Given the description of an element on the screen output the (x, y) to click on. 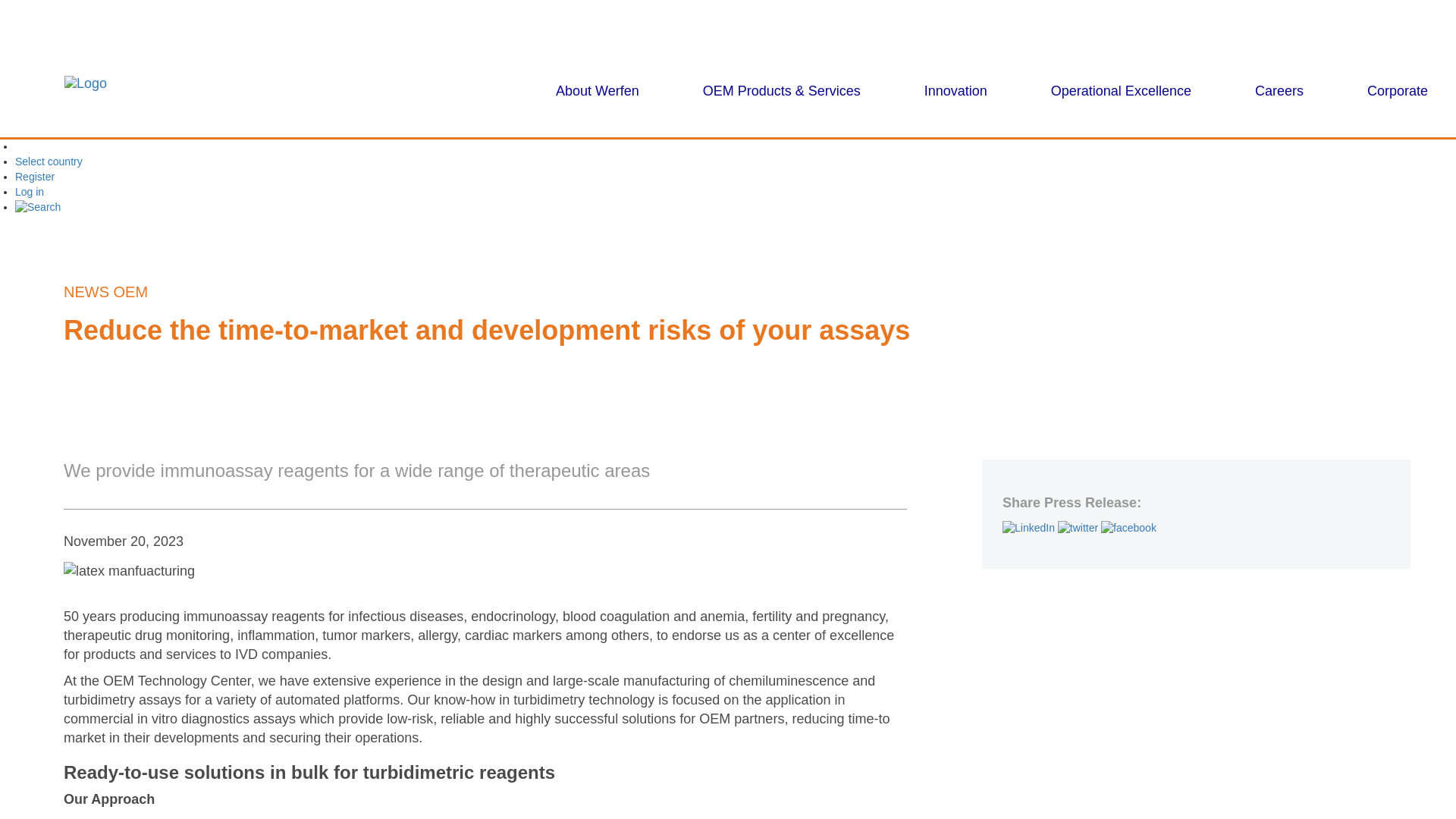
Careers (1279, 90)
Register (34, 176)
Select country (48, 161)
About Werfen (597, 90)
Corporate (1397, 90)
Operational Excellence (1121, 90)
Log in (28, 191)
Innovation (955, 90)
